Given the description of an element on the screen output the (x, y) to click on. 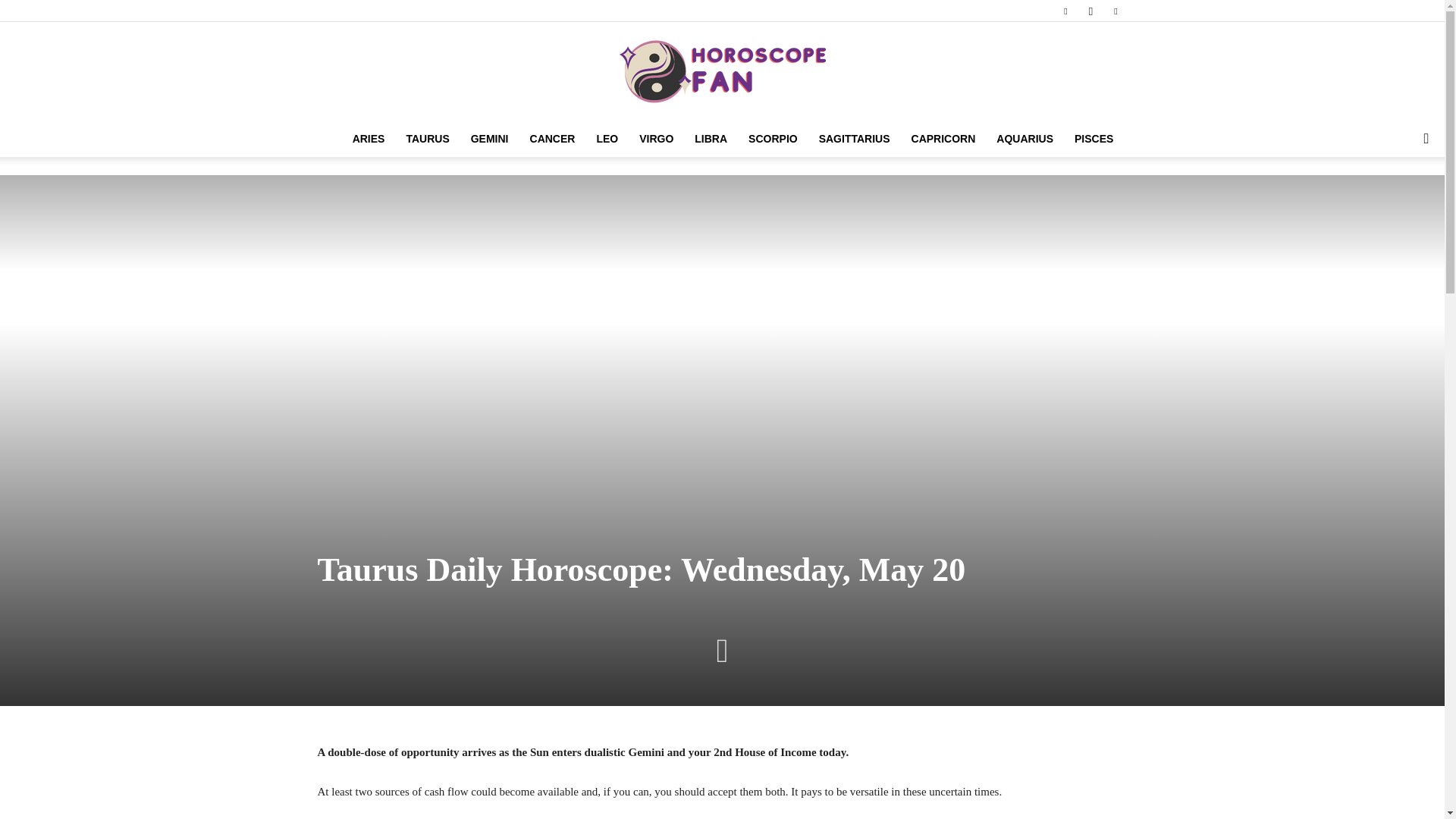
Pinterest (1114, 10)
Facebook (1065, 10)
Instagram (1090, 10)
